Given the description of an element on the screen output the (x, y) to click on. 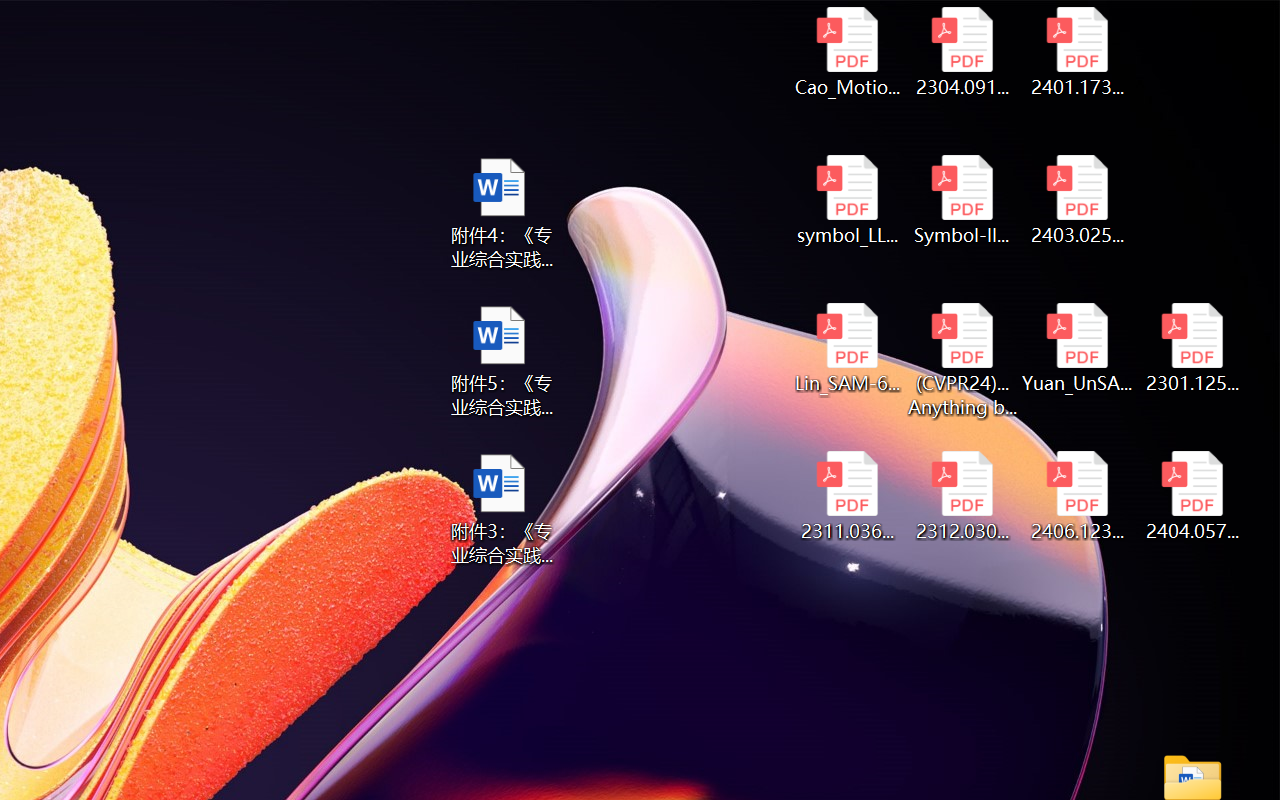
Symbol-llm-v2.pdf (962, 200)
2401.17399v1.pdf (1077, 52)
2403.02502v1.pdf (1077, 200)
2312.03032v2.pdf (962, 496)
2404.05719v1.pdf (1192, 496)
2304.09121v3.pdf (962, 52)
symbol_LLM.pdf (846, 200)
2406.12373v2.pdf (1077, 496)
2311.03658v2.pdf (846, 496)
(CVPR24)Matching Anything by Segmenting Anything.pdf (962, 360)
